Given the description of an element on the screen output the (x, y) to click on. 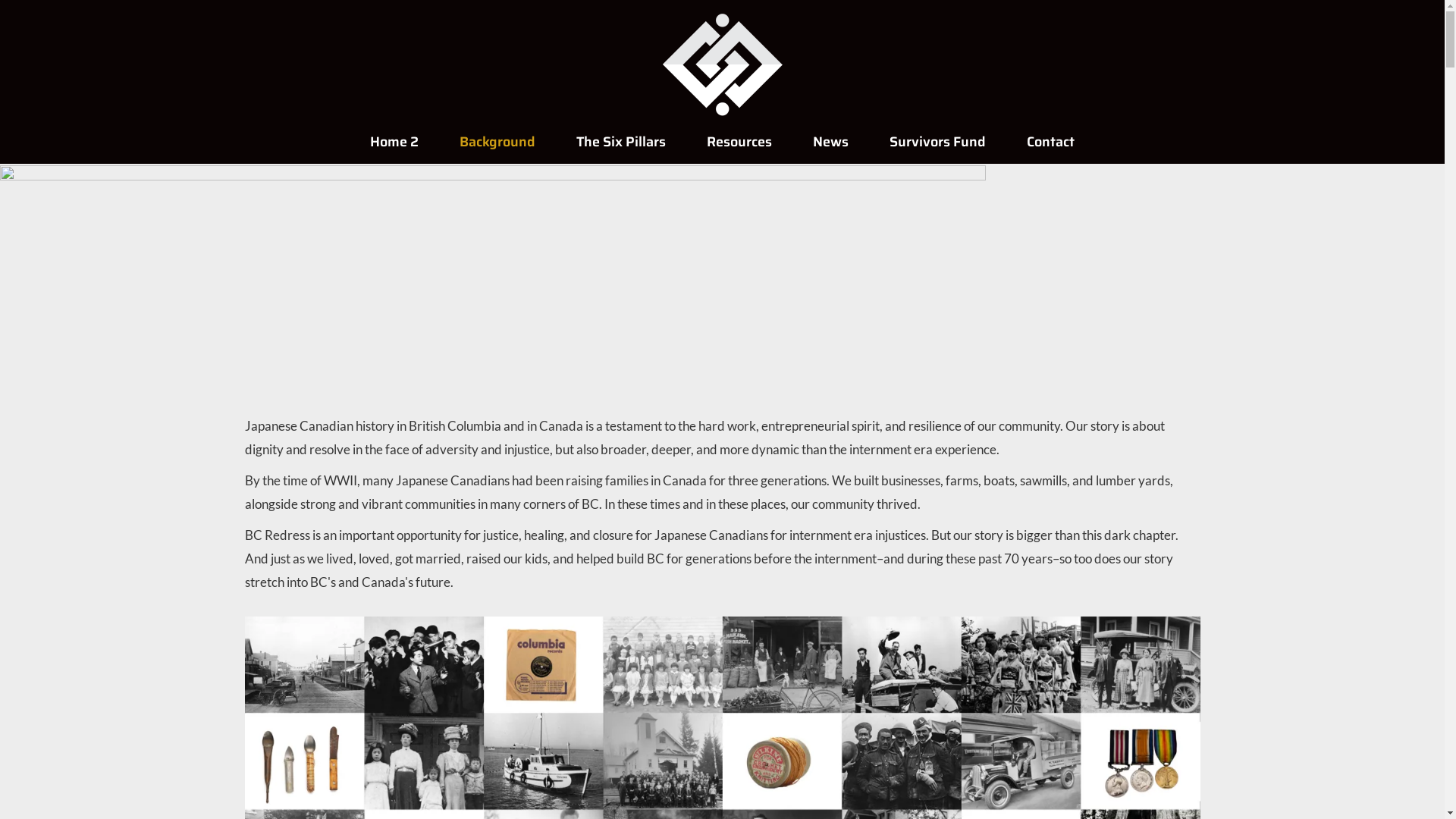
Survivors Fund Element type: text (937, 141)
News Element type: text (830, 141)
Contact Element type: text (1050, 141)
The Six Pillars Element type: text (620, 141)
Background Element type: text (497, 141)
Home Element type: text (721, 61)
Resources Element type: text (738, 141)
Home 2 Element type: text (394, 141)
